Given the description of an element on the screen output the (x, y) to click on. 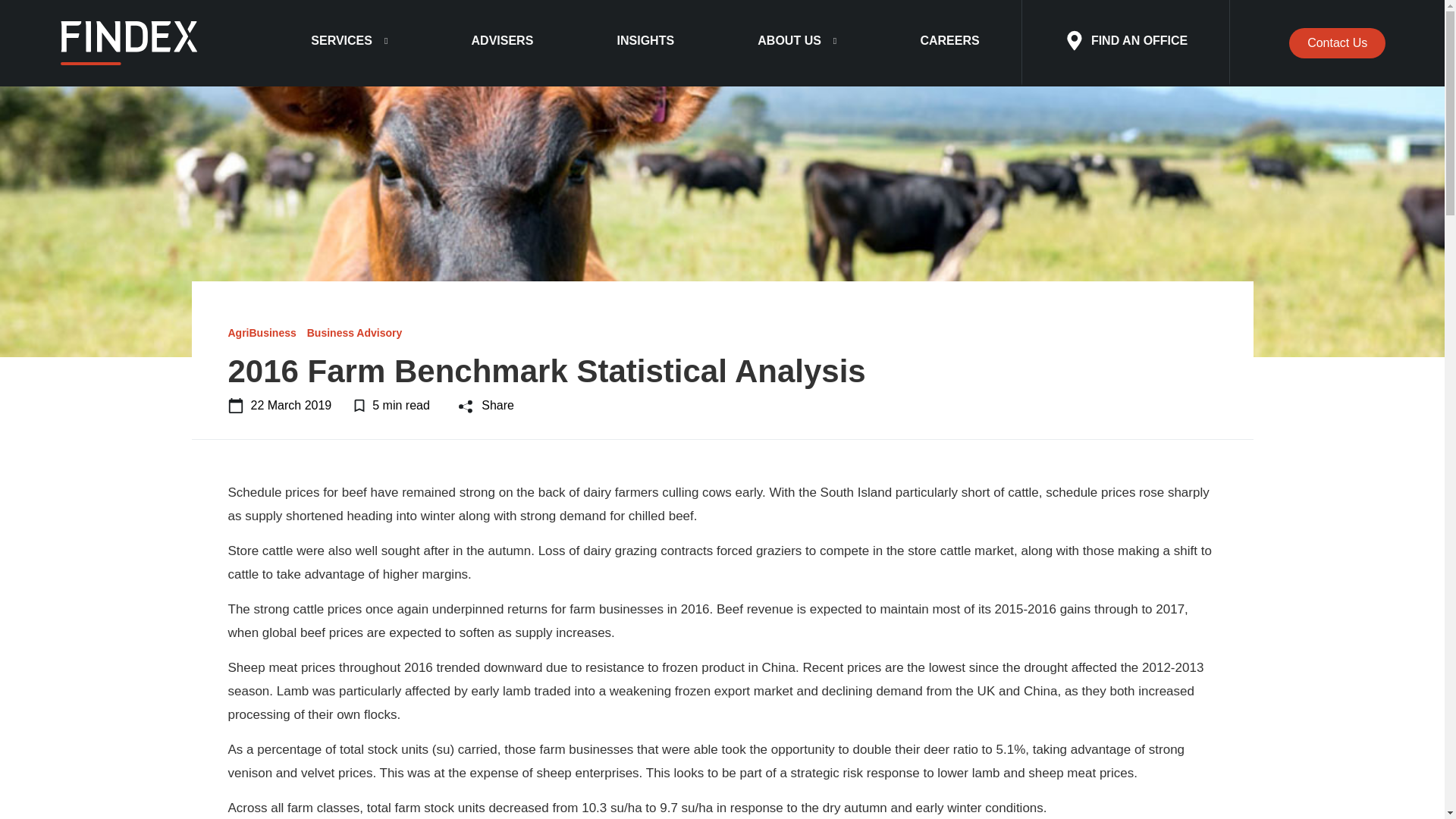
Contact Us (1337, 42)
INSIGHTS (645, 43)
SERVICES (349, 43)
FIND AN OFFICE (1126, 43)
CAREERS (948, 43)
ABOUT US (796, 43)
ADVISERS (502, 43)
